Given the description of an element on the screen output the (x, y) to click on. 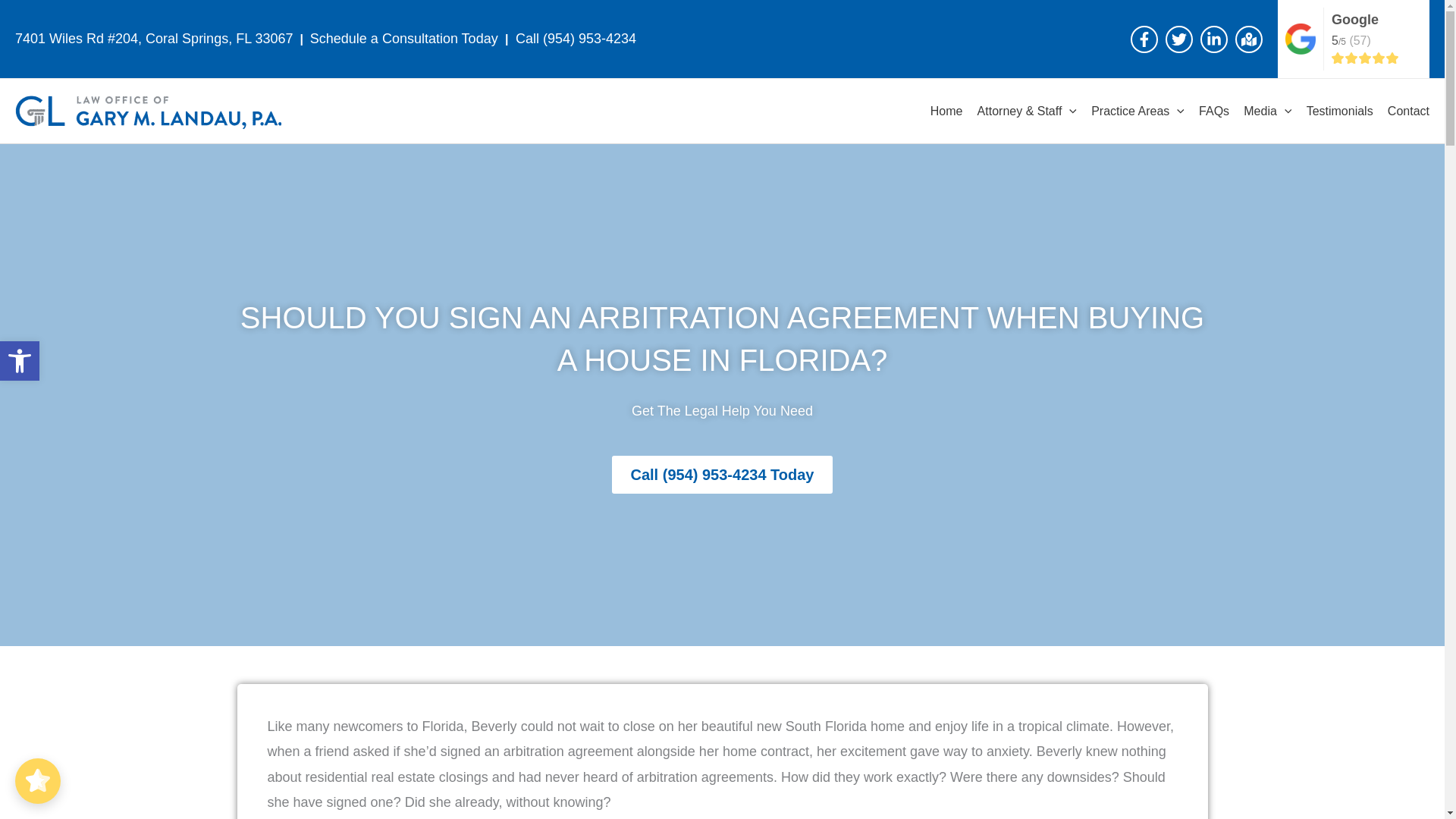
Practice Areas (1138, 110)
Accessibility Tools (19, 360)
Schedule a Consultation Today  (406, 38)
Accessibility Tools (19, 360)
